Given the description of an element on the screen output the (x, y) to click on. 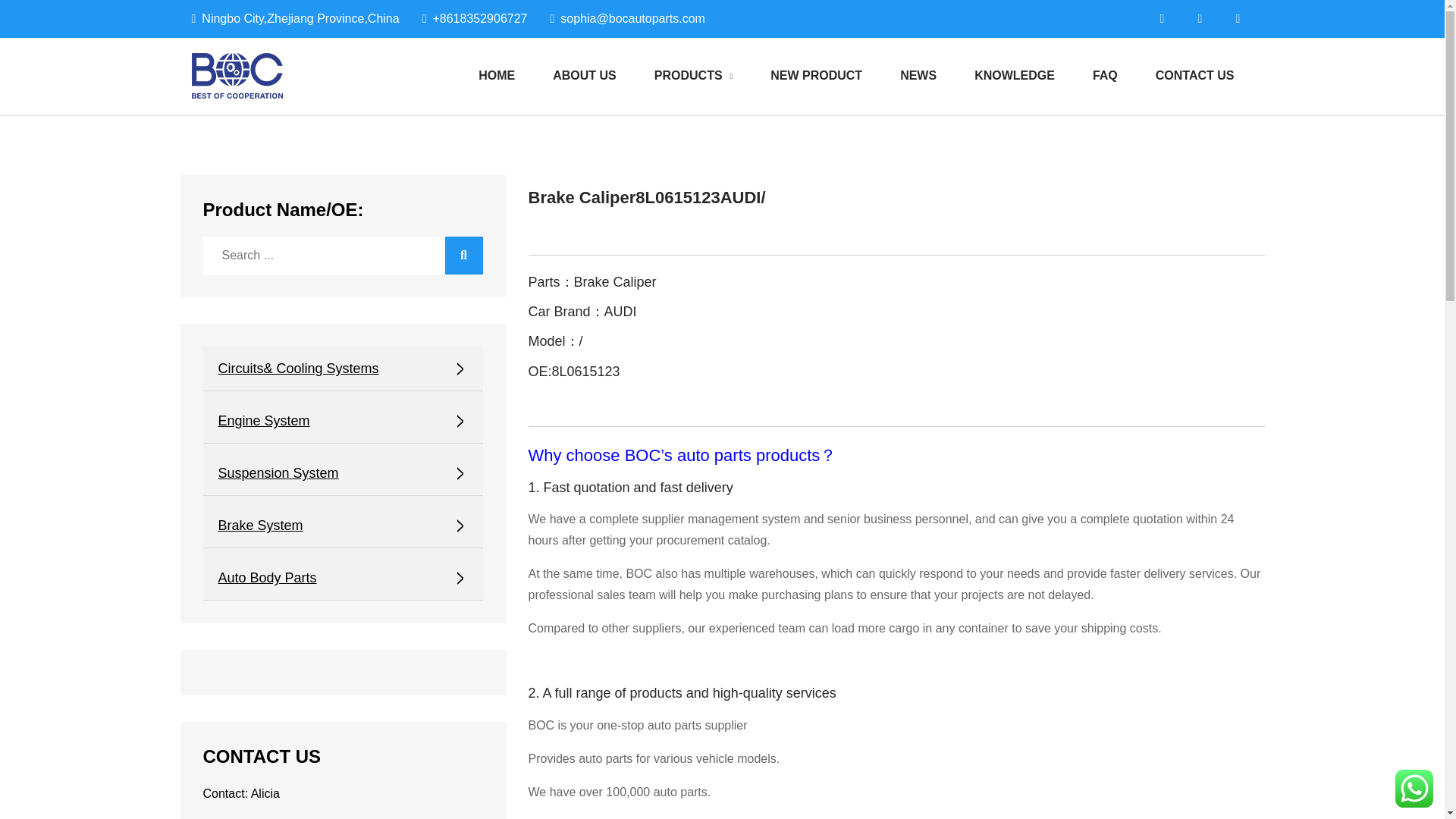
Search for: (343, 255)
HOME (497, 75)
PRODUCTS (692, 75)
Bocautoparts (371, 90)
ABOUT US (584, 75)
